Given the description of an element on the screen output the (x, y) to click on. 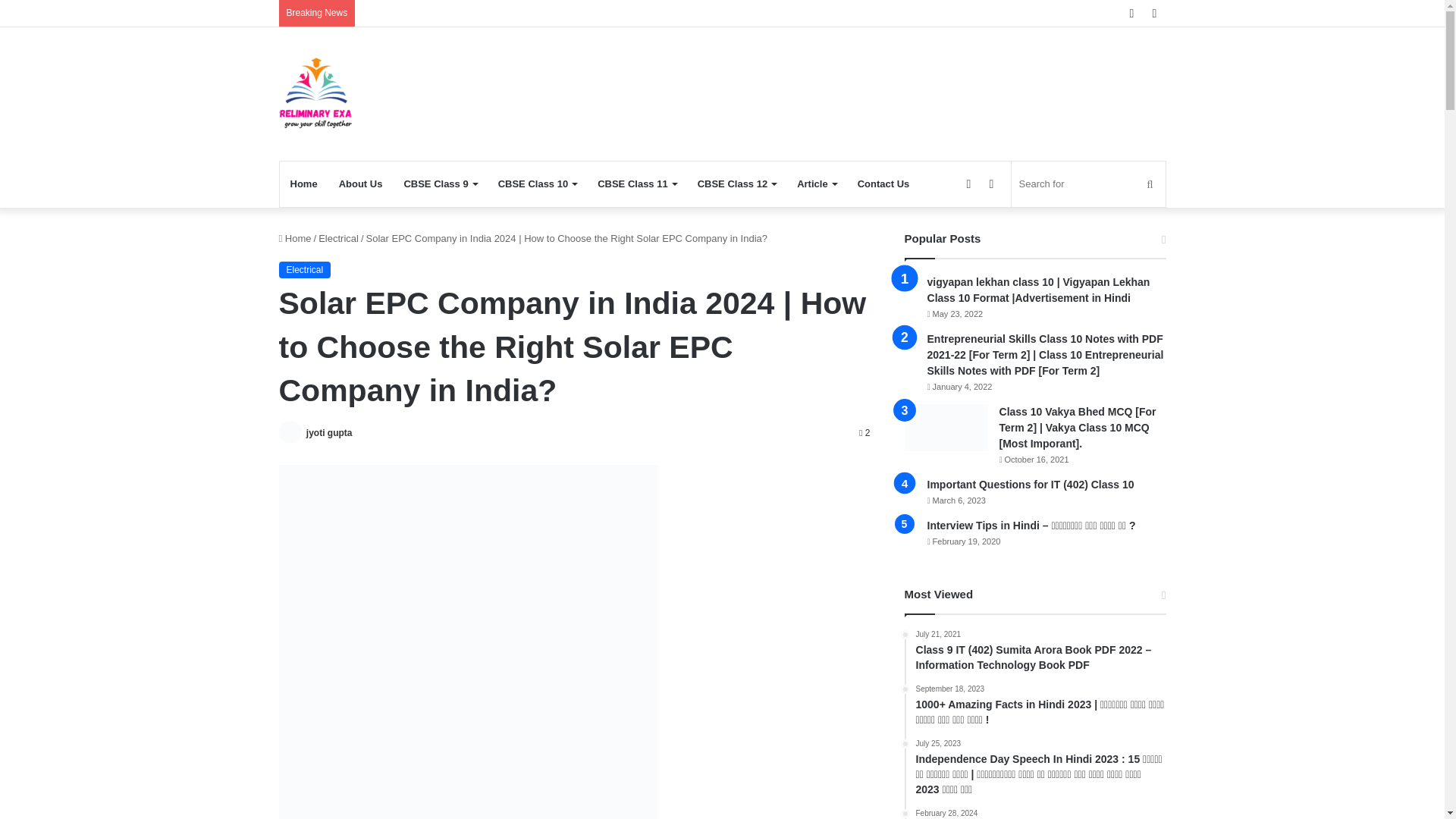
Find Preliminary Exam Notes (315, 93)
CBSE Class 11 (636, 184)
jyoti gupta (328, 432)
About Us (361, 184)
Home (303, 184)
CBSE Class 9 (439, 184)
Search for (1088, 184)
CBSE Class 12 (737, 184)
CBSE Class 10 (537, 184)
